Given the description of an element on the screen output the (x, y) to click on. 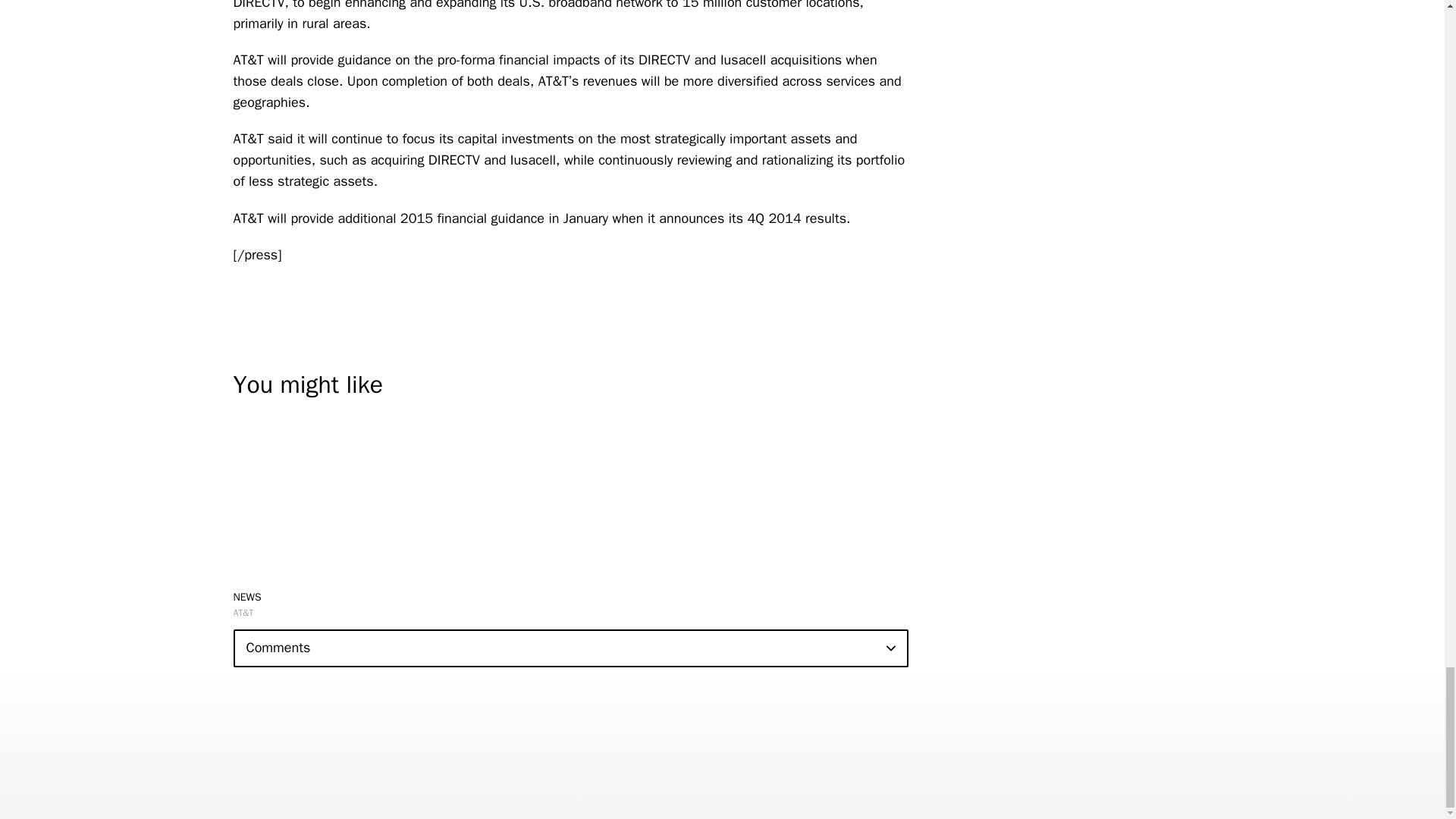
NEWS (247, 596)
Comments (570, 648)
